Given the description of an element on the screen output the (x, y) to click on. 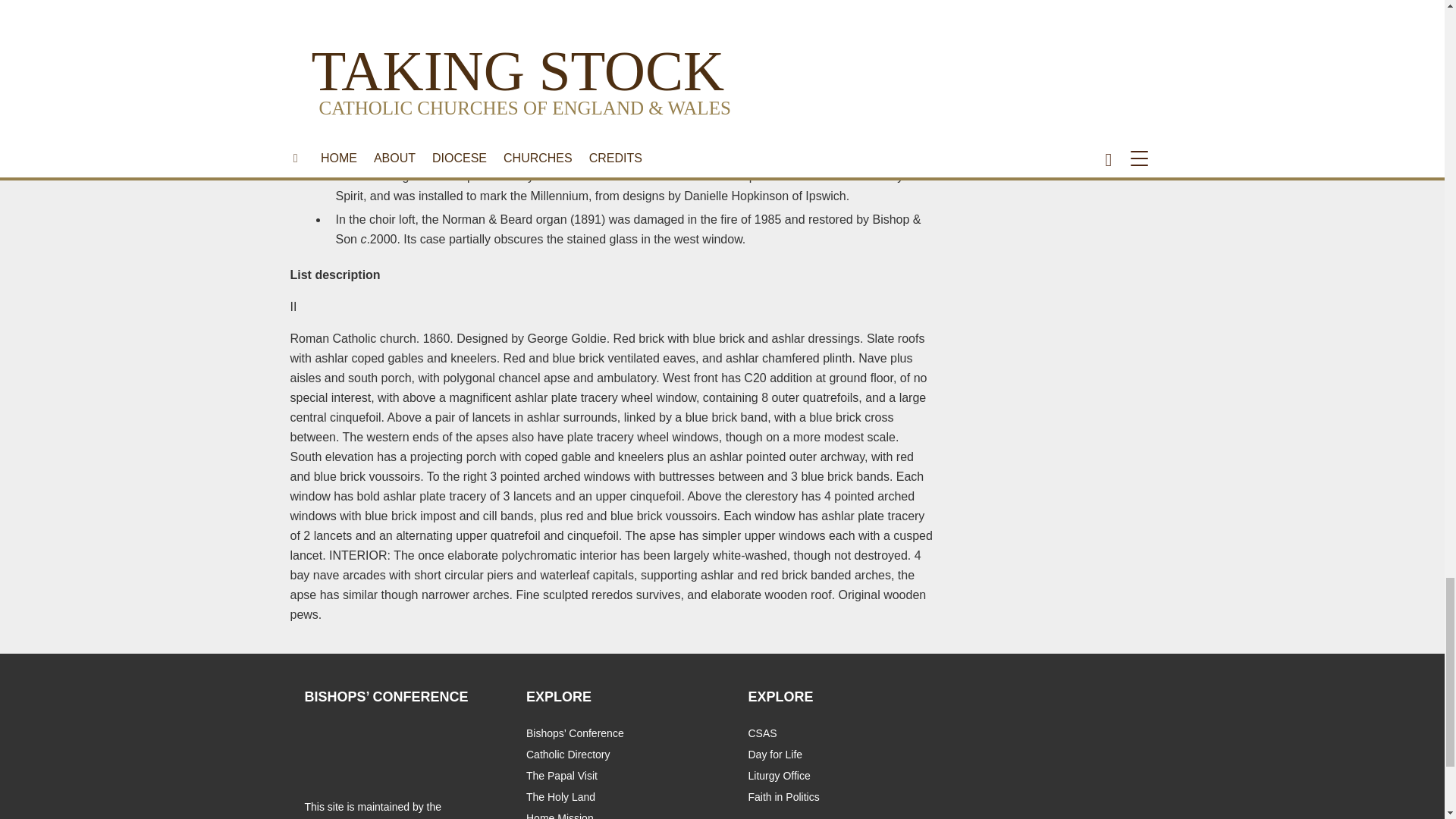
Bishops' Conference (327, 745)
